Given the description of an element on the screen output the (x, y) to click on. 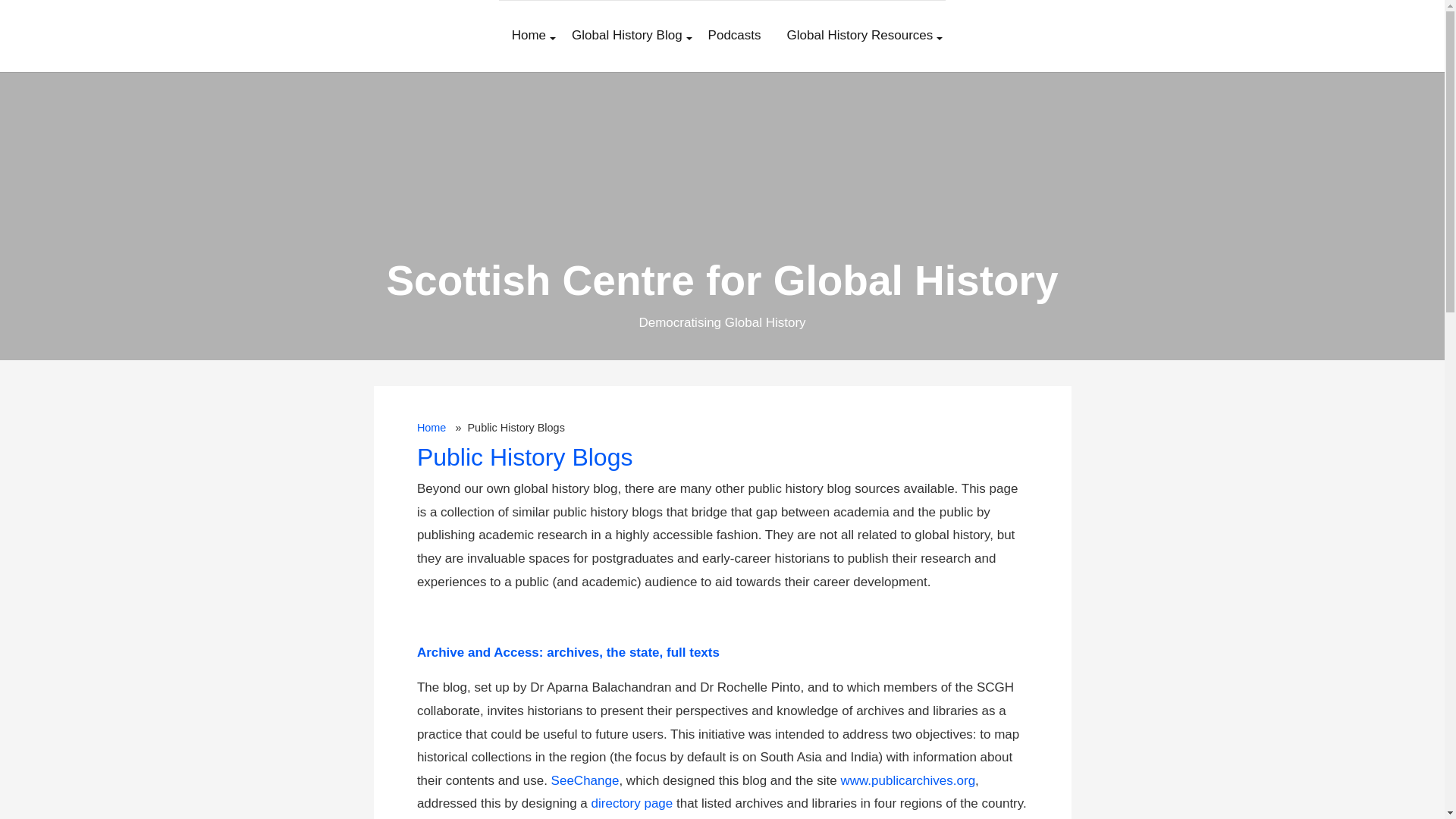
Archive and Access: archives, the state, full texts (567, 652)
Global History Resources (860, 36)
Podcasts (734, 36)
www.publicarchives.org (907, 780)
Public History Blogs (524, 456)
Global History Blog (627, 36)
SeeChange (585, 780)
Scottish Centre for Global History (721, 280)
Home (431, 427)
directory page (631, 803)
